Given the description of an element on the screen output the (x, y) to click on. 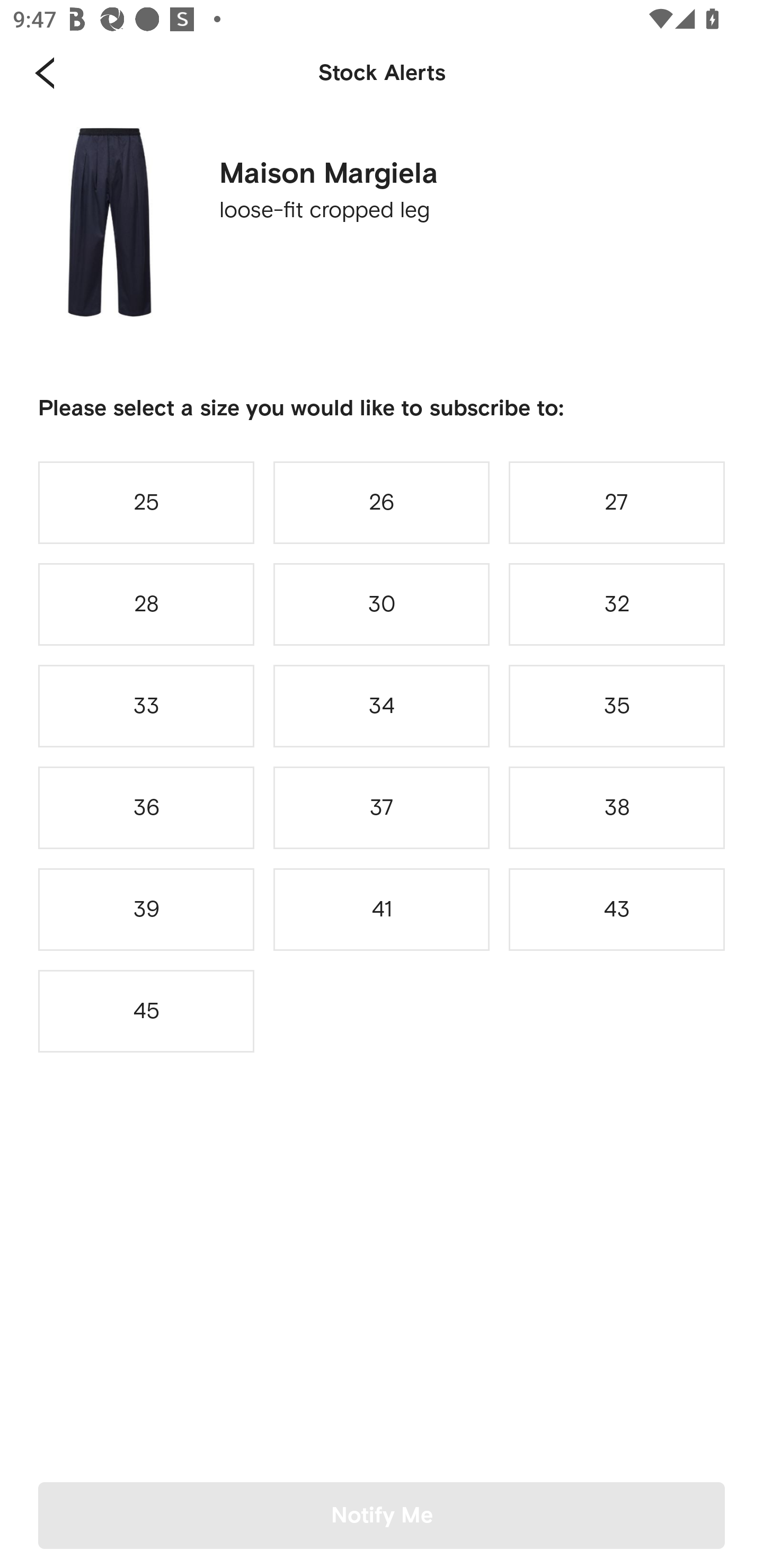
25 (146, 502)
26 (381, 502)
27 (616, 502)
28 (146, 604)
30 (381, 604)
32 (616, 604)
33 (146, 705)
34 (381, 705)
35 (616, 705)
36 (146, 807)
37 (381, 807)
38 (616, 807)
39 (146, 909)
41 (381, 909)
43 (616, 909)
45 (146, 1011)
Notify Me (381, 1515)
